Given the description of an element on the screen output the (x, y) to click on. 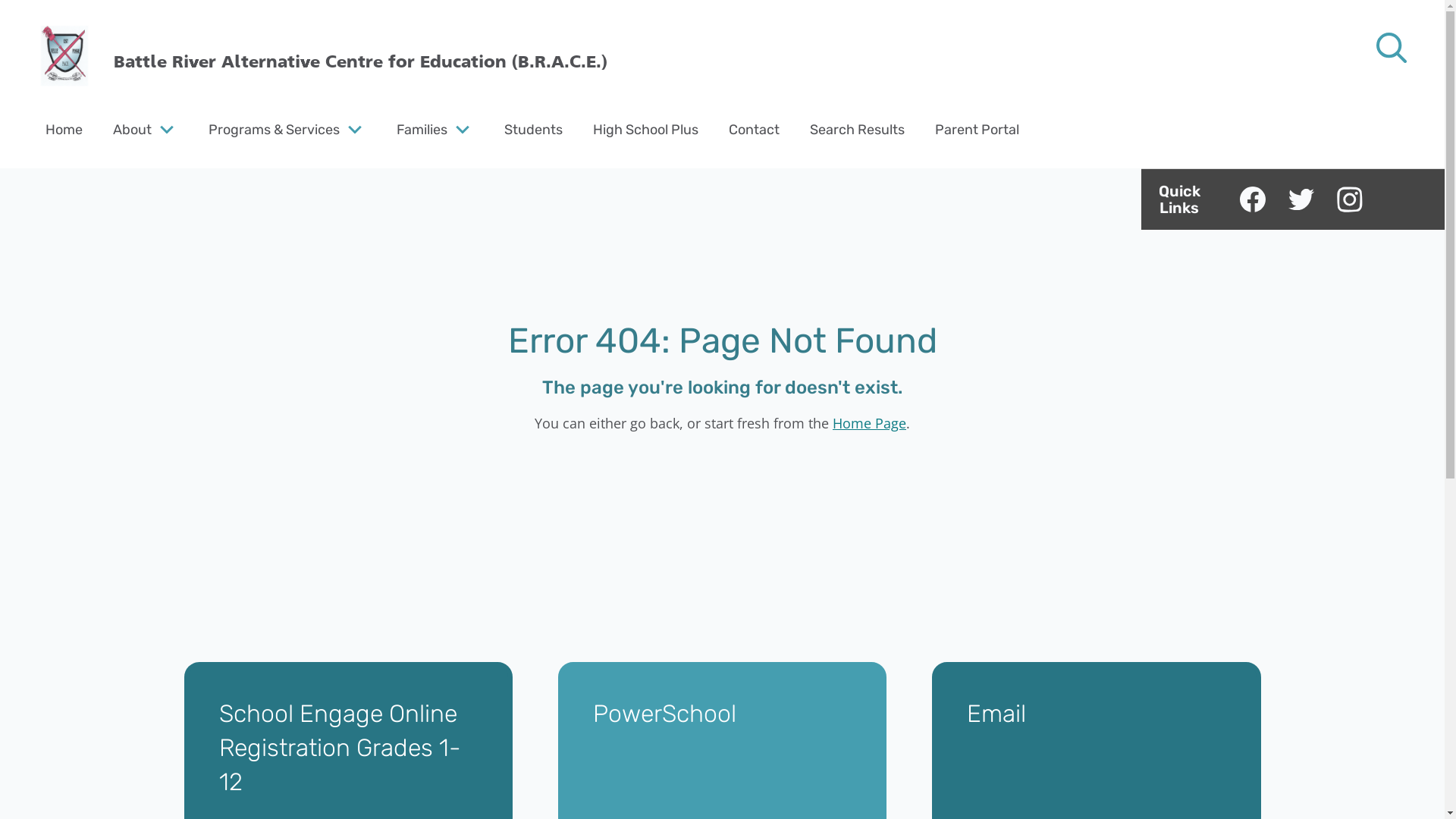
Home Element type: text (63, 129)
Families Element type: text (421, 129)
Quick Links Element type: text (1179, 198)
High School Plus Element type: text (645, 129)
About Element type: text (131, 129)
home Element type: hover (64, 56)
Home Page Element type: text (869, 423)
Contact Element type: text (753, 129)
Students Element type: text (533, 129)
Parent Portal Element type: text (977, 129)
Programs & Services Element type: text (273, 129)
Search Element type: text (45, 19)
Search Results Element type: text (856, 129)
